Given the description of an element on the screen output the (x, y) to click on. 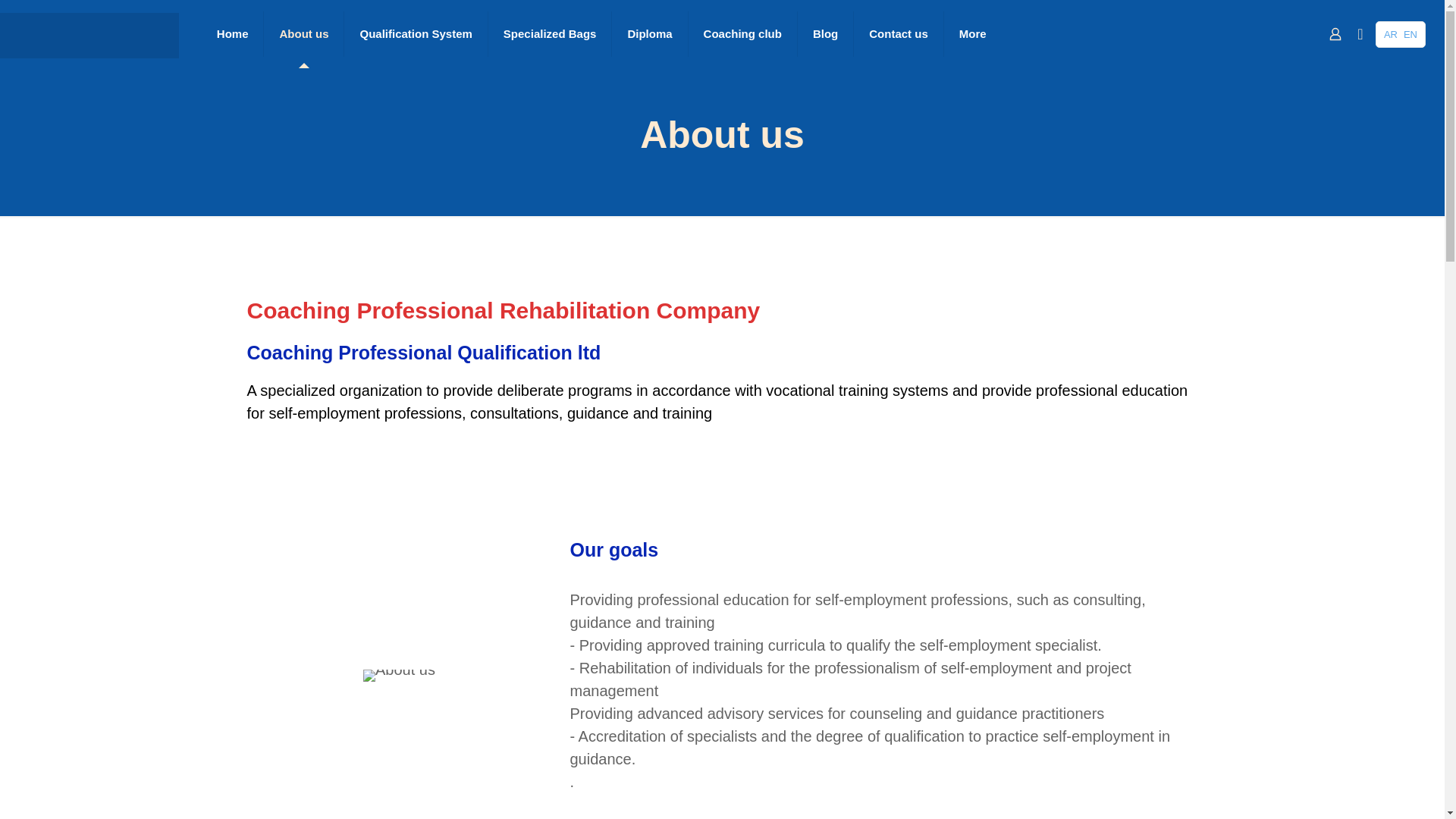
Specialized Bags (549, 33)
EN (1409, 34)
Coaching club (742, 33)
Diploma (649, 33)
Contact us (898, 33)
Qualification System (415, 33)
Home (233, 33)
AR (1390, 34)
About us (303, 33)
